Given the description of an element on the screen output the (x, y) to click on. 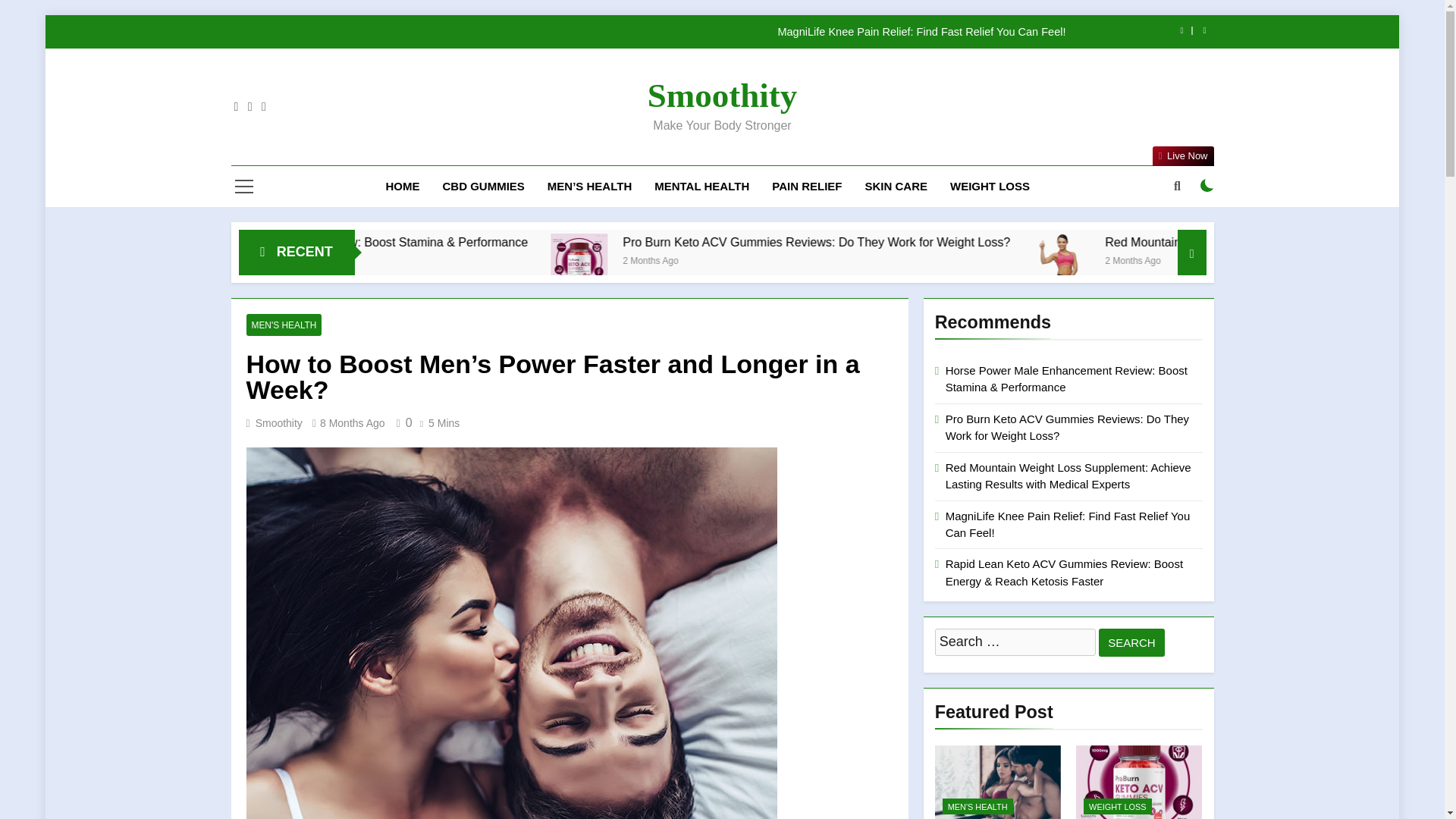
on (1206, 185)
Search (1131, 642)
2 Months Ago (365, 259)
CBD GUMMIES (482, 186)
SKIN CARE (896, 186)
MagniLife Knee Pain Relief: Find Fast Relief You Can Feel! (648, 31)
PAIN RELIEF (806, 186)
HOME (402, 186)
Search (1131, 642)
MagniLife Knee Pain Relief: Find Fast Relief You Can Feel! (648, 31)
Live Now (1183, 156)
WEIGHT LOSS (990, 186)
